Given the description of an element on the screen output the (x, y) to click on. 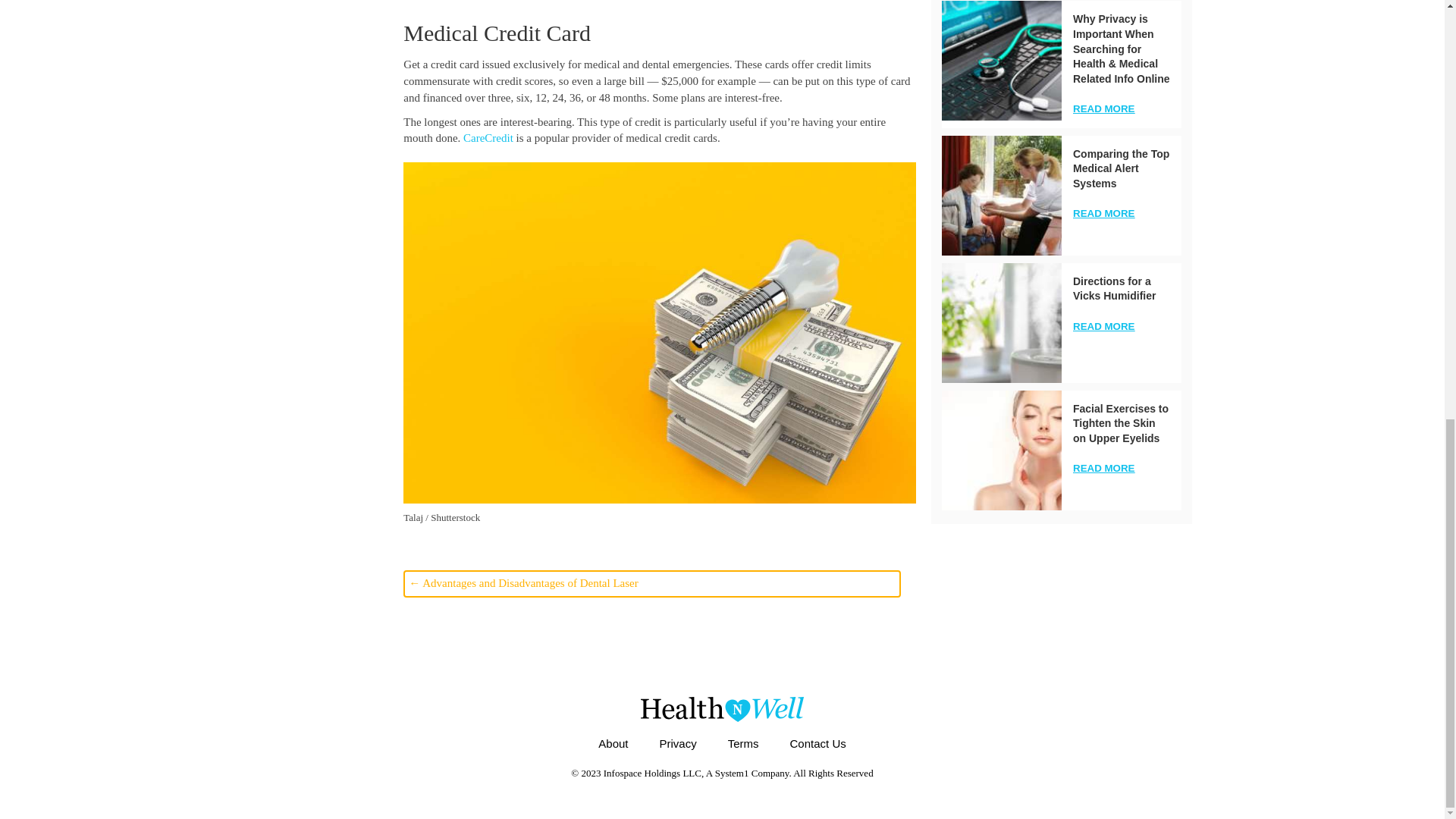
READ MORE (1103, 108)
Comparing the Top Medical Alert Systems (1121, 168)
Comparing the Top Medical Alert Systems (1121, 168)
READ MORE (1103, 213)
Comparing the Top Medical Alert Systems (1001, 195)
CareCredit (488, 137)
Directions for a Vicks Humidifier (1001, 322)
